Given the description of an element on the screen output the (x, y) to click on. 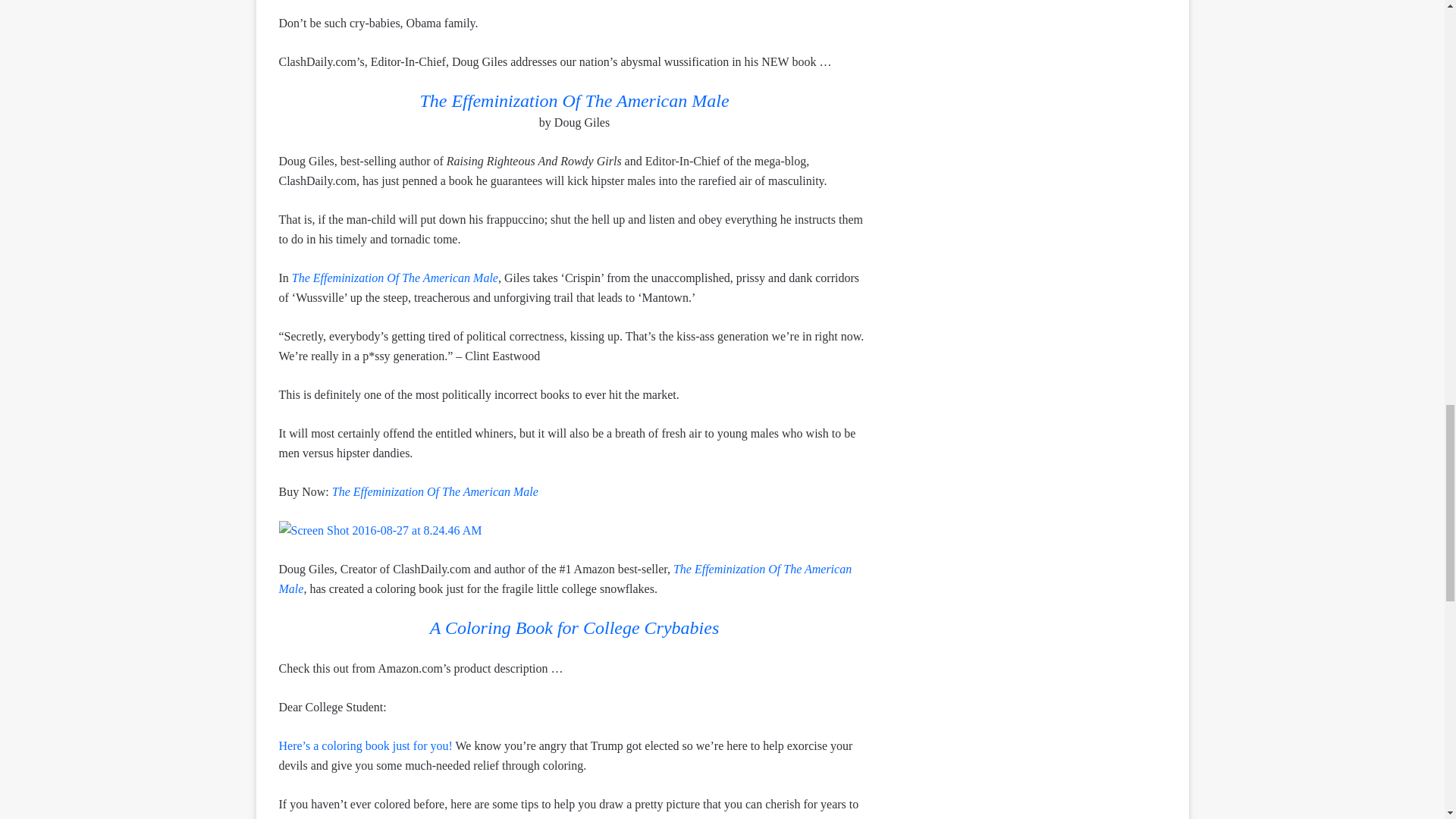
The Effeminization Of The American Male (434, 491)
The Effeminization Of The American Male (574, 102)
A Coloring Book for College Crybabies (574, 629)
The Effeminization Of The American Male (394, 277)
The Effeminization Of The American Male (565, 578)
